Given the description of an element on the screen output the (x, y) to click on. 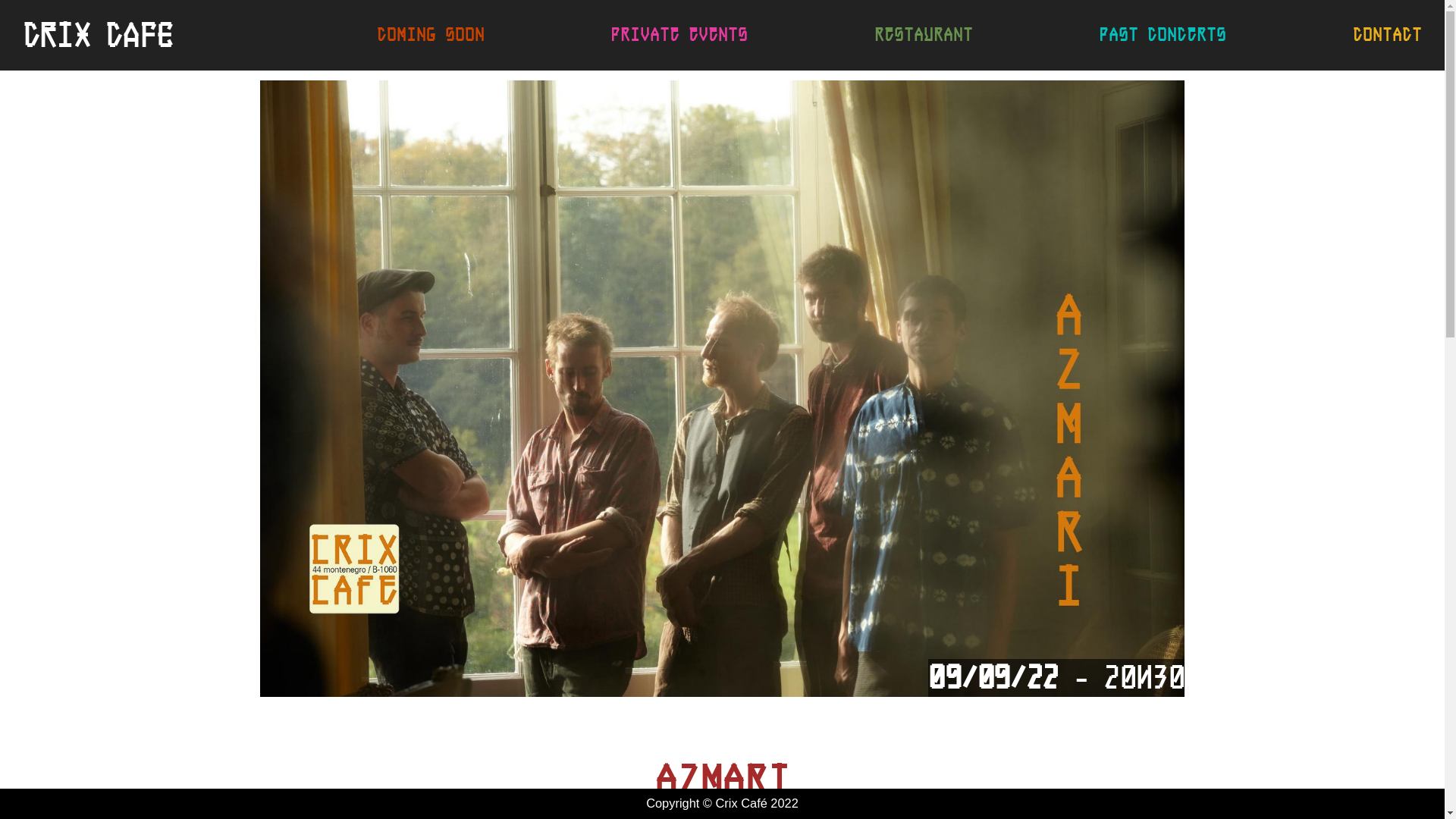
CONTACT Element type: text (1386, 34)
CrIx Cafe Element type: text (97, 34)
PRIVATE EVENTS Element type: text (678, 34)
RESTAURANT Element type: text (923, 34)
COMING SOON Element type: text (430, 34)
PAST CONCERTS Element type: text (1162, 34)
